Given the description of an element on the screen output the (x, y) to click on. 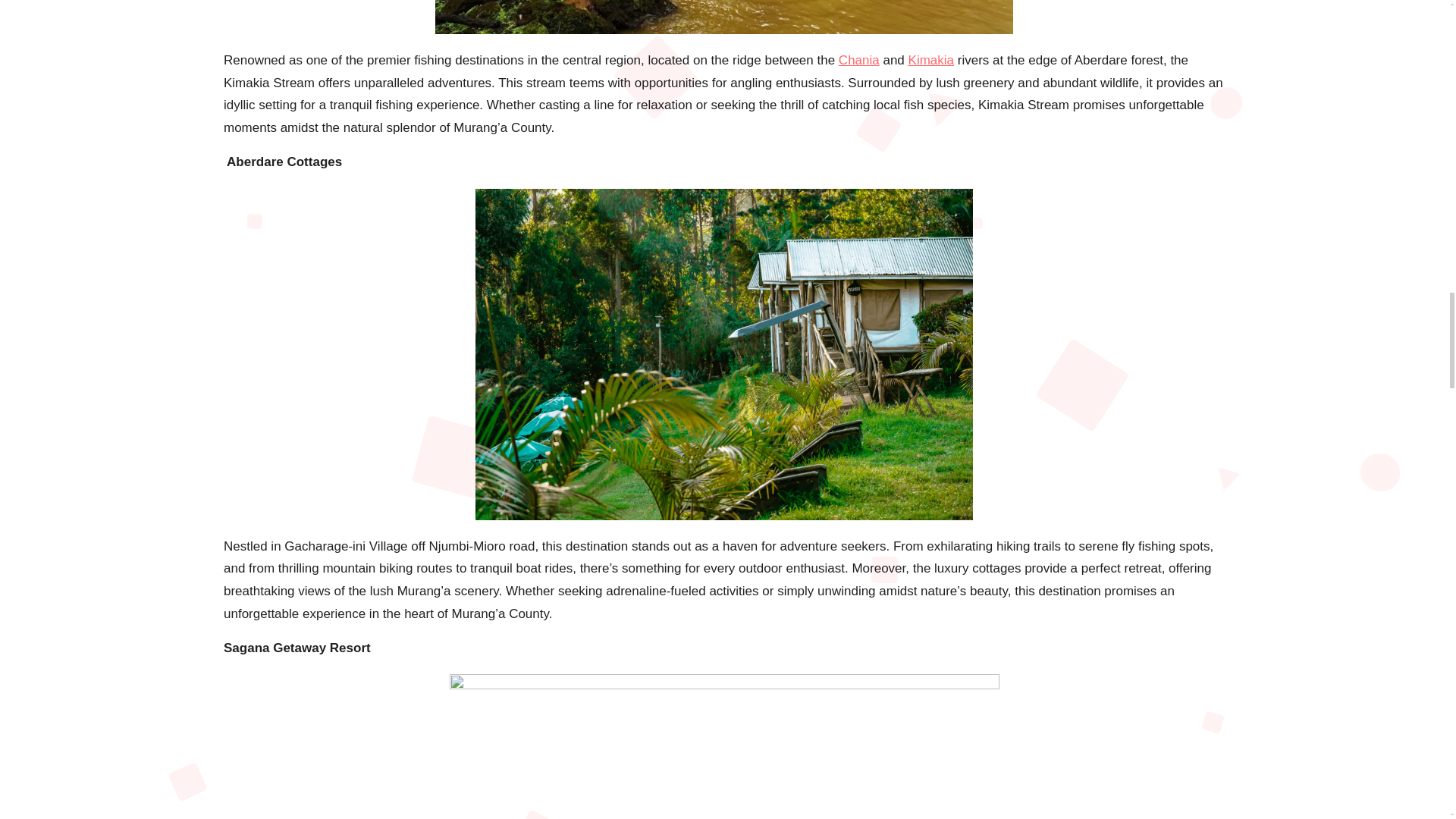
Kimakia (930, 60)
Chania (858, 60)
